Given the description of an element on the screen output the (x, y) to click on. 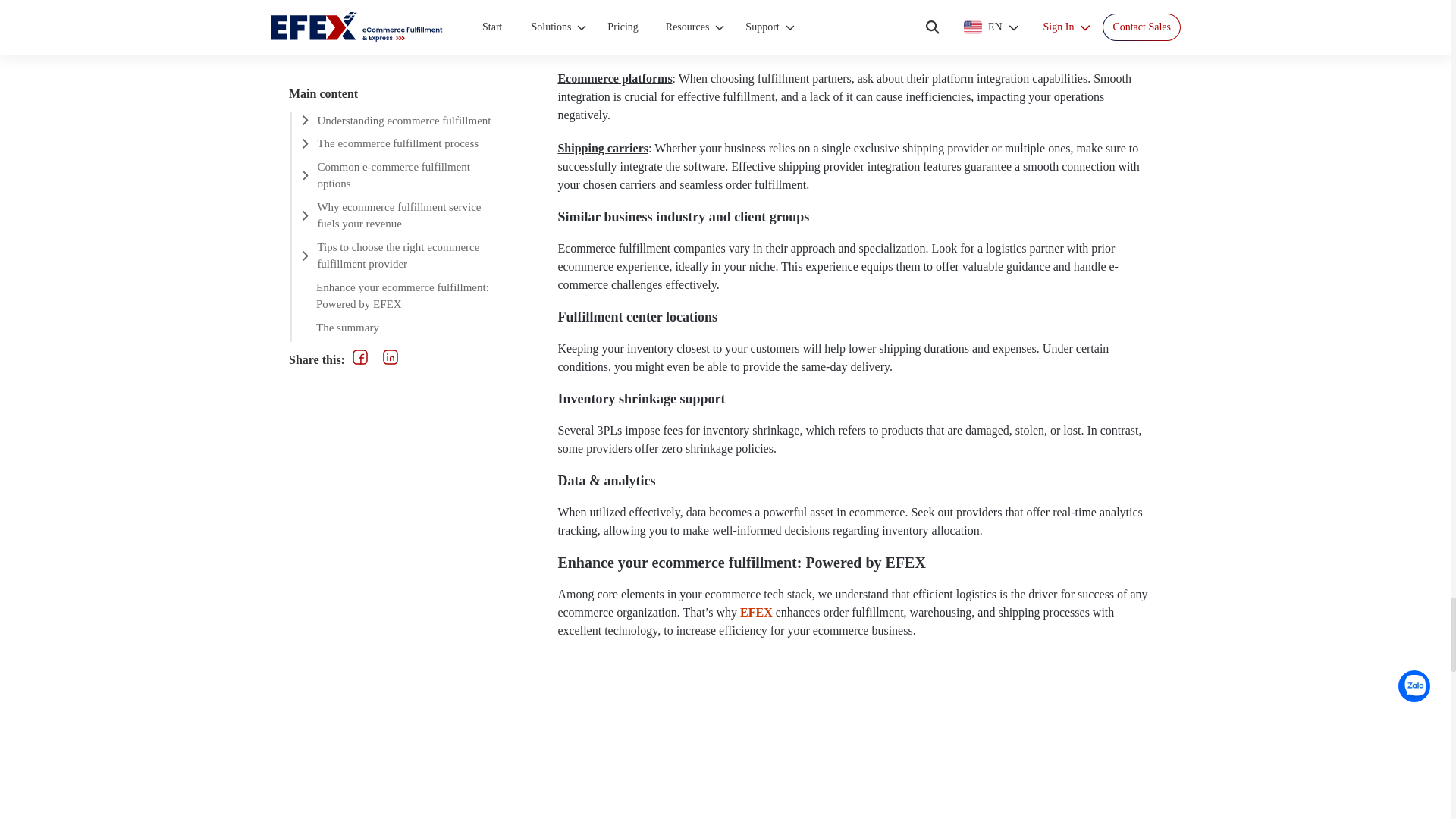
EFEX (756, 612)
YouTube video player (857, 737)
